Given the description of an element on the screen output the (x, y) to click on. 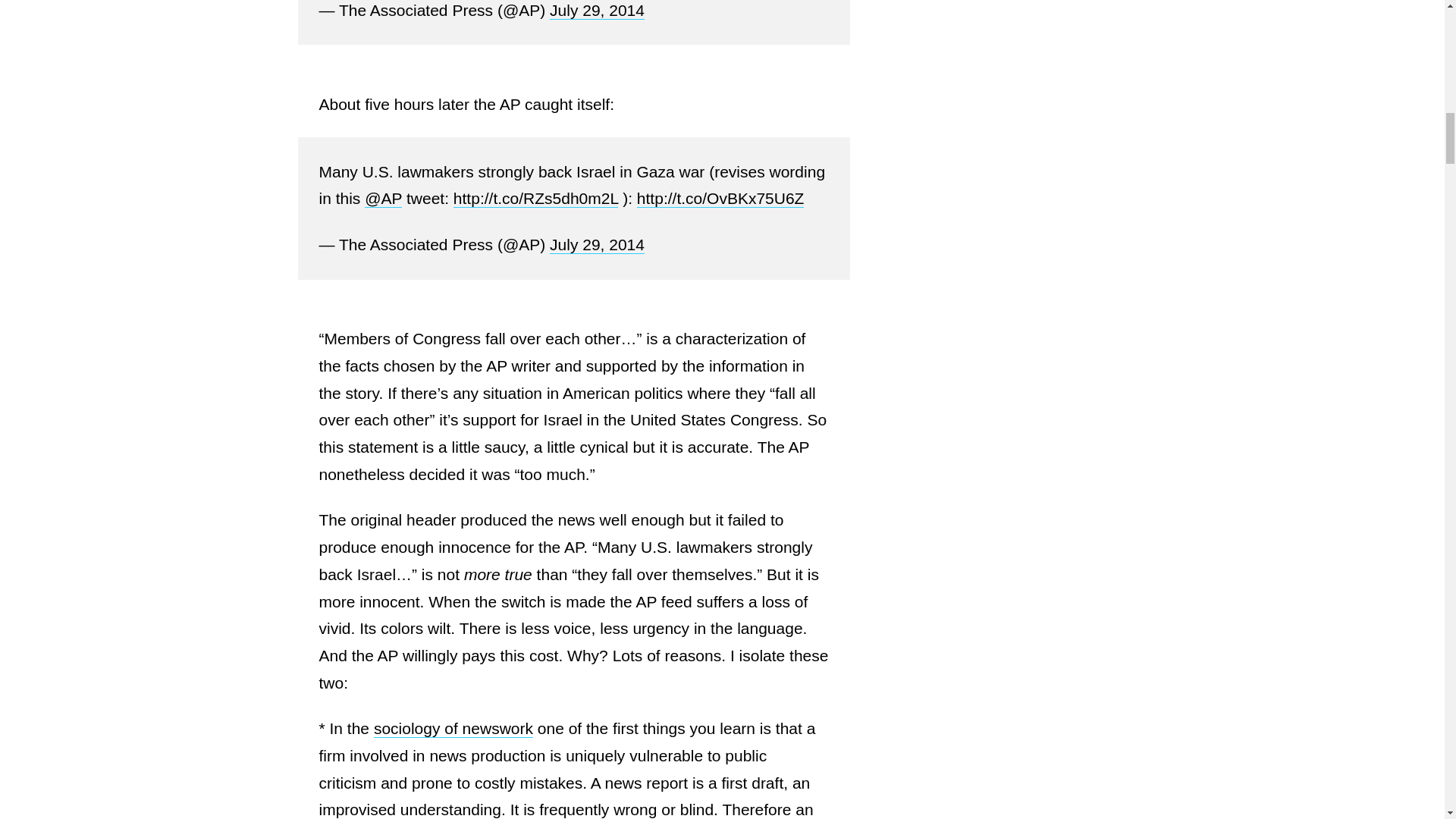
July 29, 2014 (597, 10)
sociology of newswork (453, 728)
July 29, 2014 (597, 244)
